Given the description of an element on the screen output the (x, y) to click on. 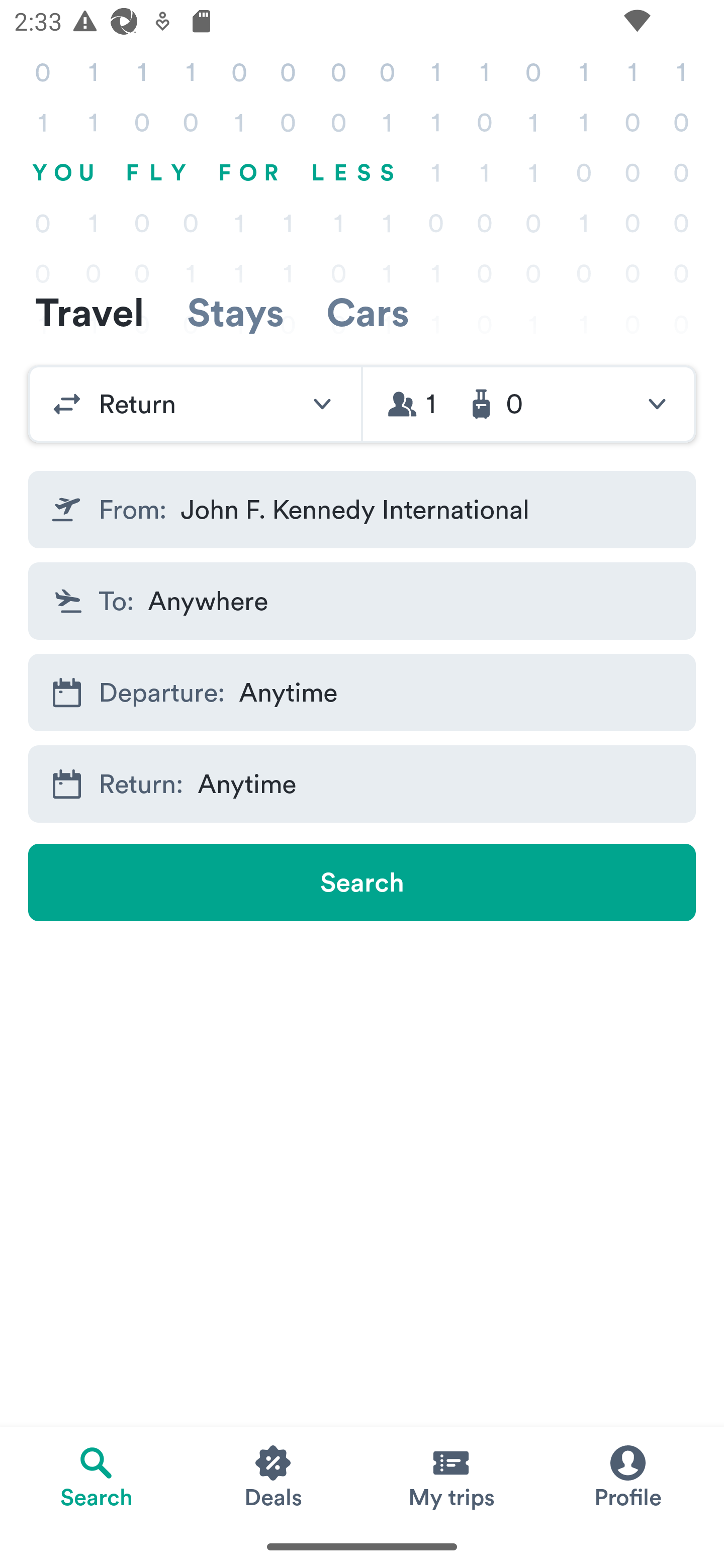
Travel (89, 311)
Stays (235, 311)
Cars (367, 311)
Return (194, 404)
Passengers 1 Bags 0 (528, 404)
From: John F. Kennedy International (361, 509)
To: Anywhere (361, 600)
Departure: Anytime (361, 692)
Return: Anytime (361, 783)
Search (361, 882)
Deals (273, 1475)
My trips (450, 1475)
Profile (627, 1475)
